Given the description of an element on the screen output the (x, y) to click on. 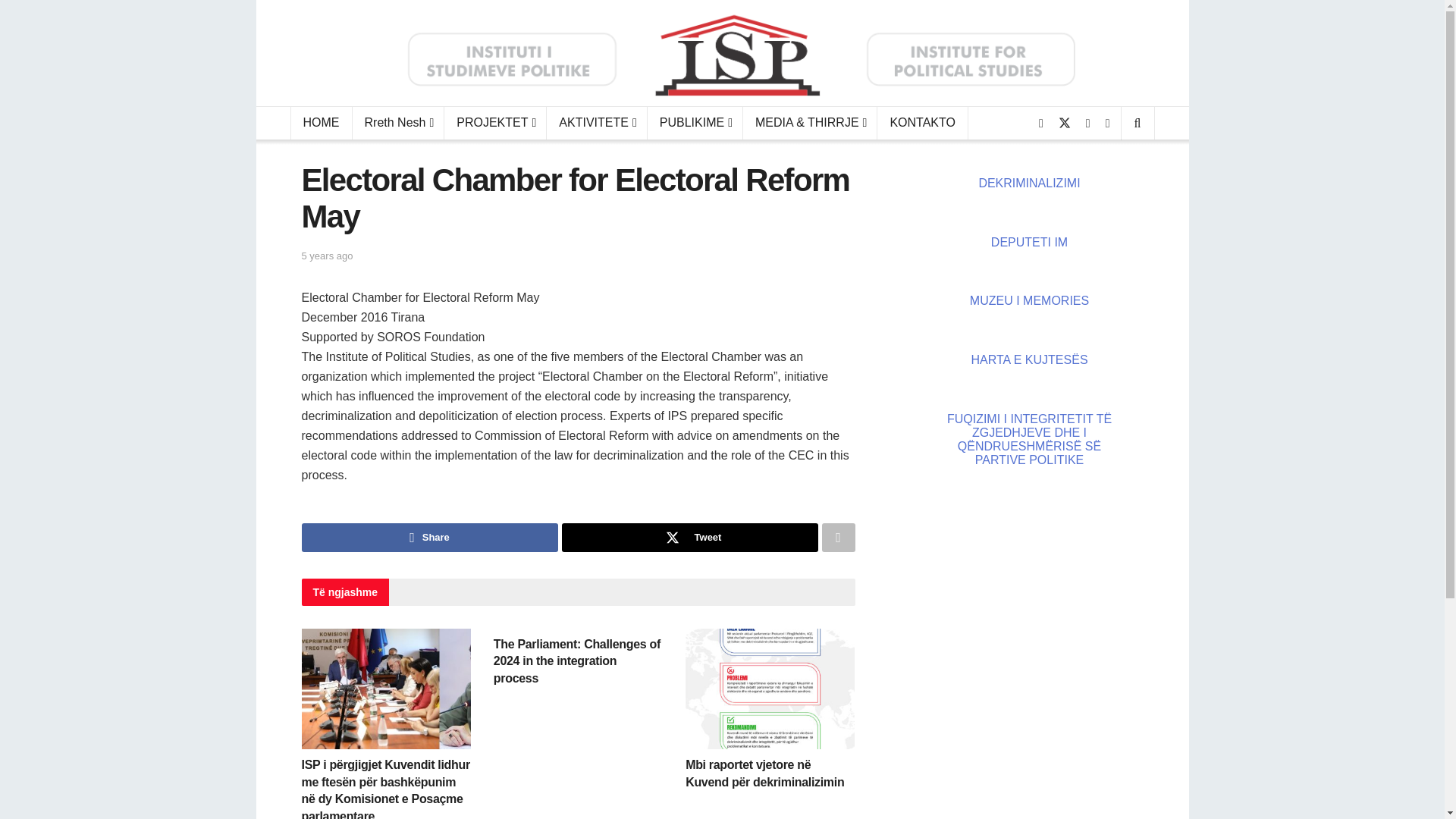
KONTAKTO (922, 122)
PROJEKTET (495, 122)
Rreth Nesh (397, 122)
AKTIVITETE (596, 122)
PUBLIKIME (694, 122)
HOME (320, 122)
